Given the description of an element on the screen output the (x, y) to click on. 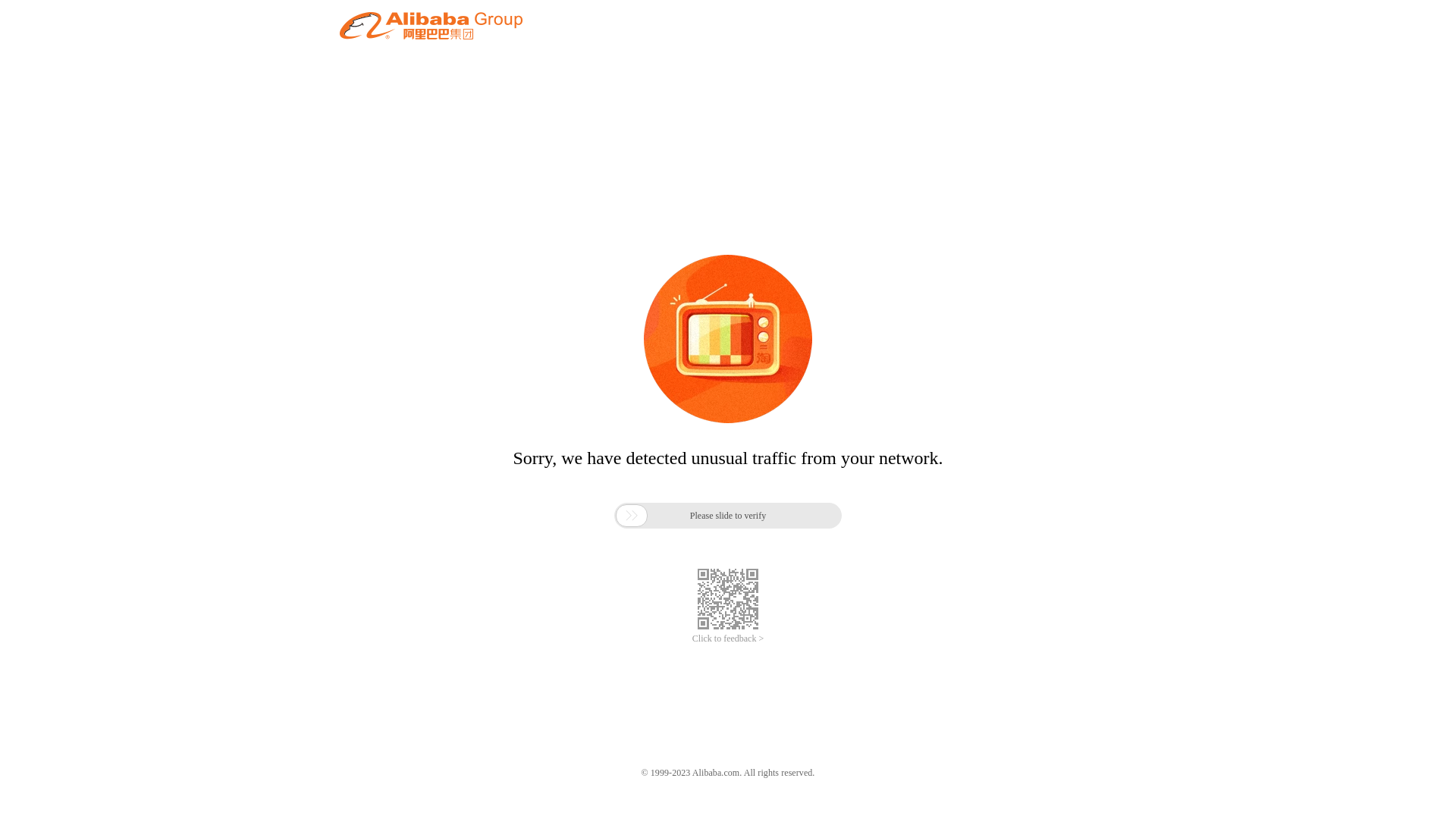
Click to feedback > Element type: text (727, 638)
